Given the description of an element on the screen output the (x, y) to click on. 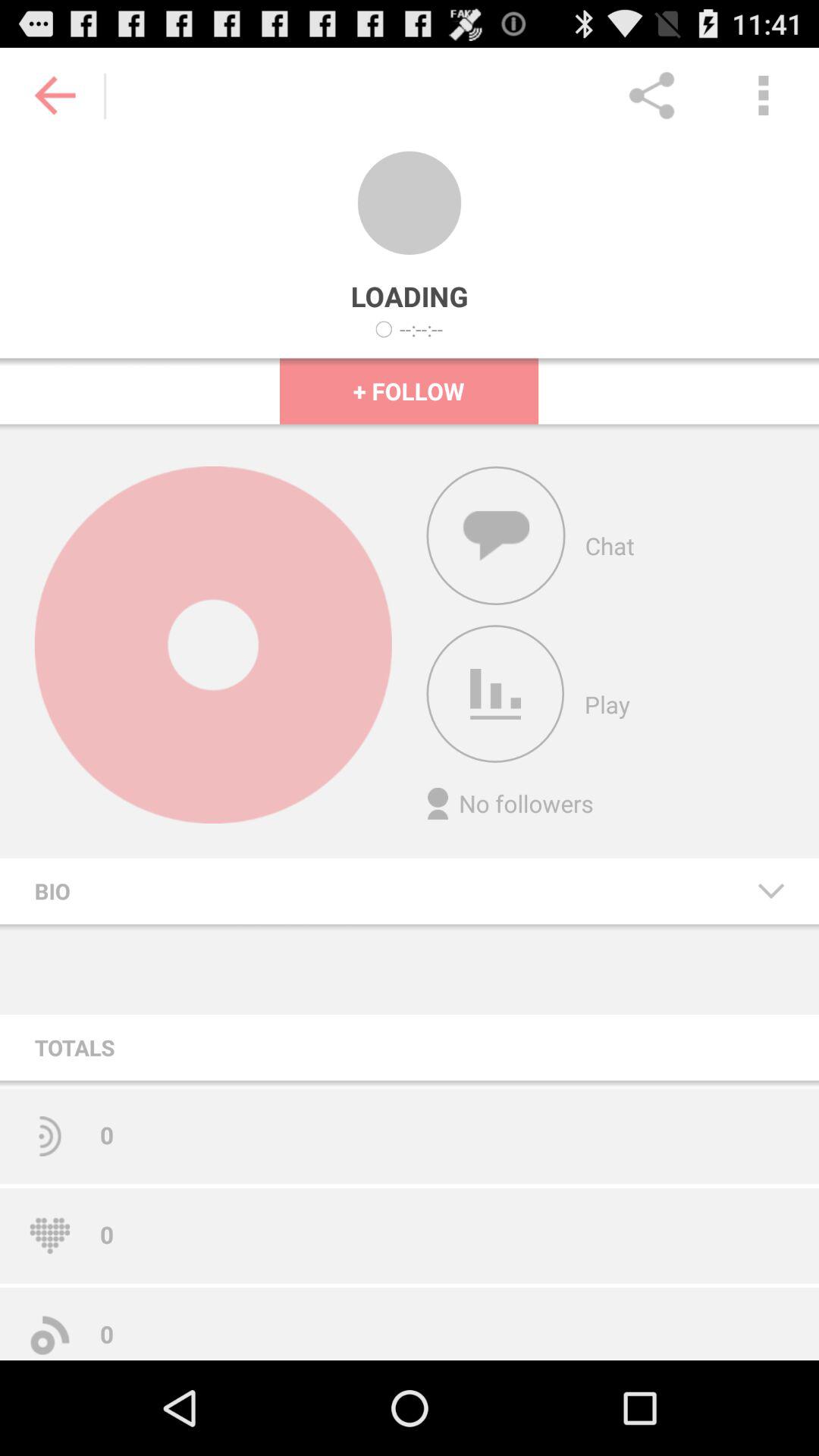
tap button above the + follow button (421, 329)
